Given the description of an element on the screen output the (x, y) to click on. 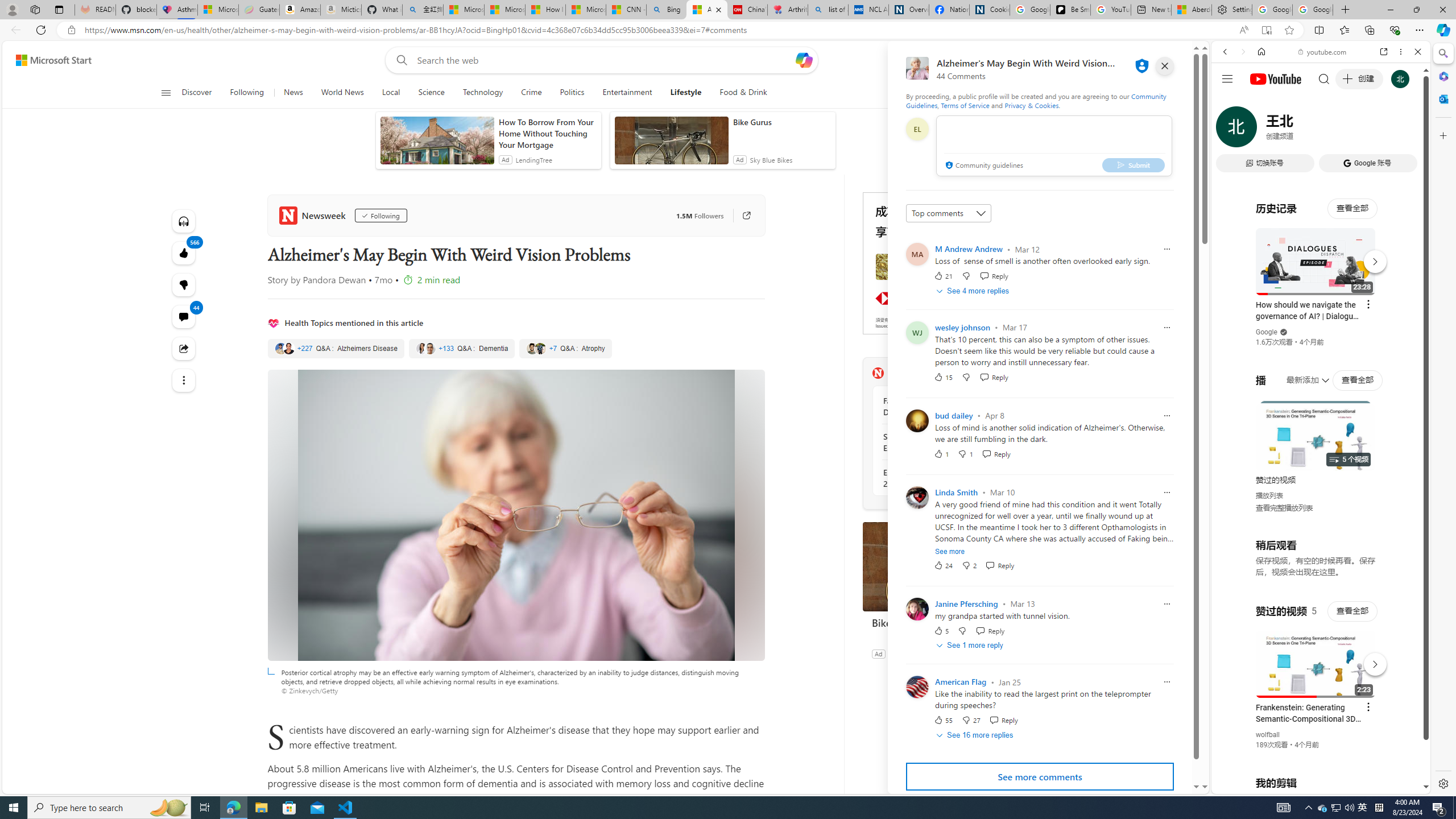
SEARCH TOOLS (1350, 130)
Show More Music (1390, 310)
Alzheimer's May Begin With Weird Vision Problems (706, 9)
5 Like (940, 630)
Entertainment (627, 92)
Add this page to favorites (Ctrl+D) (1289, 29)
Global web icon (1232, 655)
News (292, 92)
21 Like (942, 275)
comment-box (1054, 145)
close (1164, 65)
